Given the description of an element on the screen output the (x, y) to click on. 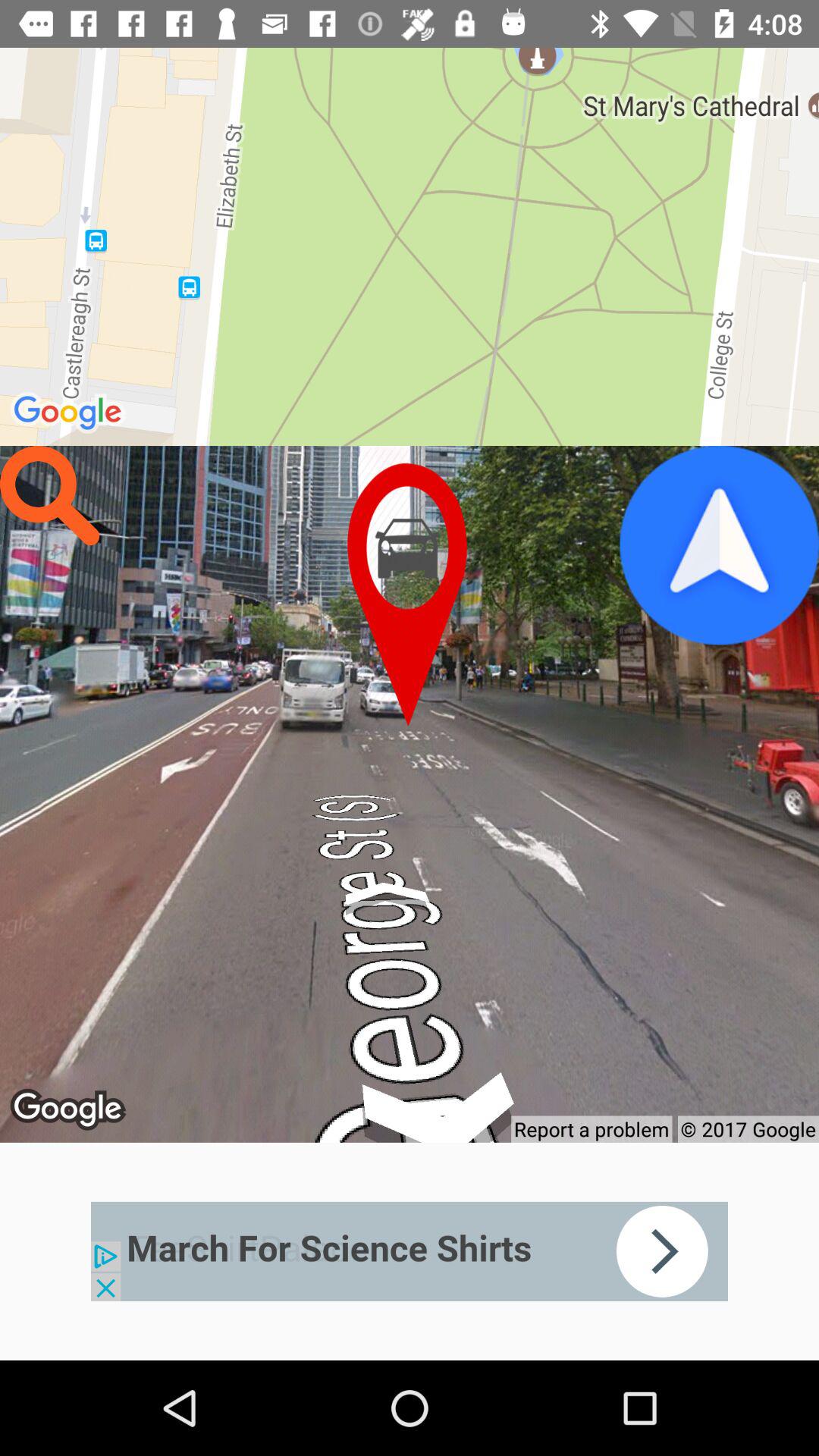
play option (719, 544)
